Given the description of an element on the screen output the (x, y) to click on. 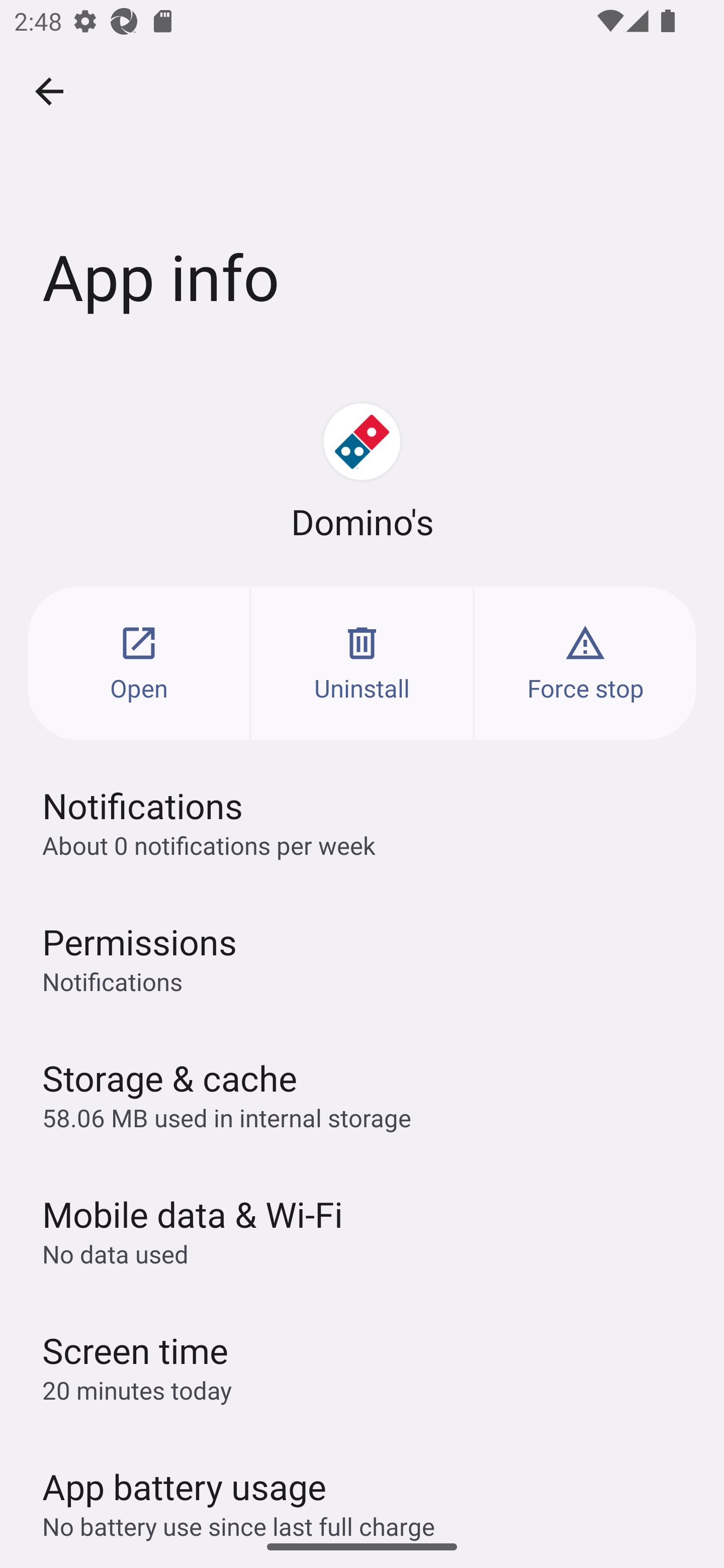
Navigate up (49, 91)
Open (138, 663)
Uninstall (361, 663)
Force stop (584, 663)
Notifications About 0 notifications per week (362, 822)
Permissions Notifications (362, 957)
Storage & cache 58.06 MB used in internal storage (362, 1093)
Mobile data & Wi‑Fi No data used (362, 1229)
Screen time 20 minutes today (362, 1366)
